Given the description of an element on the screen output the (x, y) to click on. 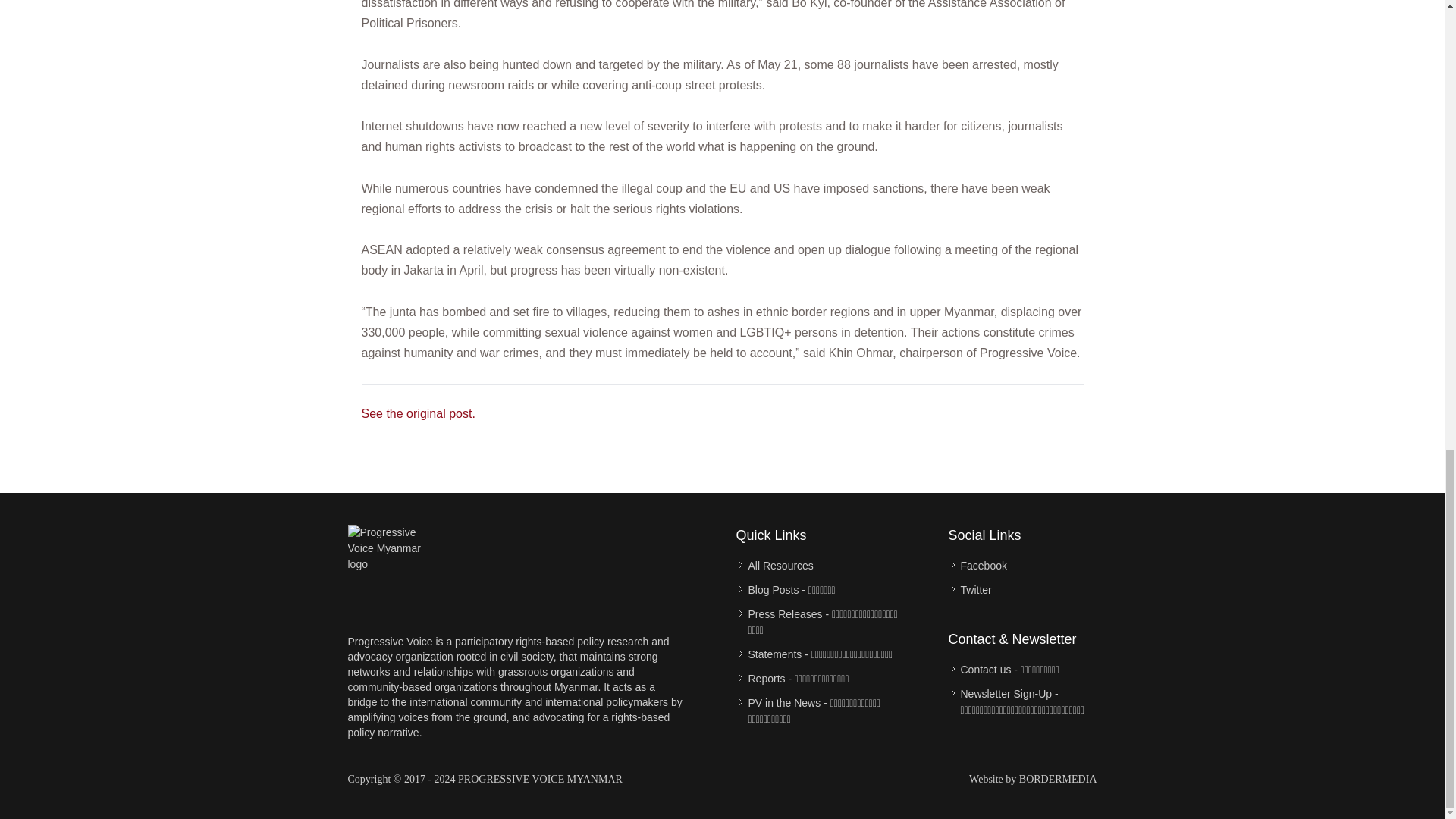
All Resources (780, 565)
Progressive Voice Myanmar - Home page (392, 569)
See the original post. (417, 413)
